Given the description of an element on the screen output the (x, y) to click on. 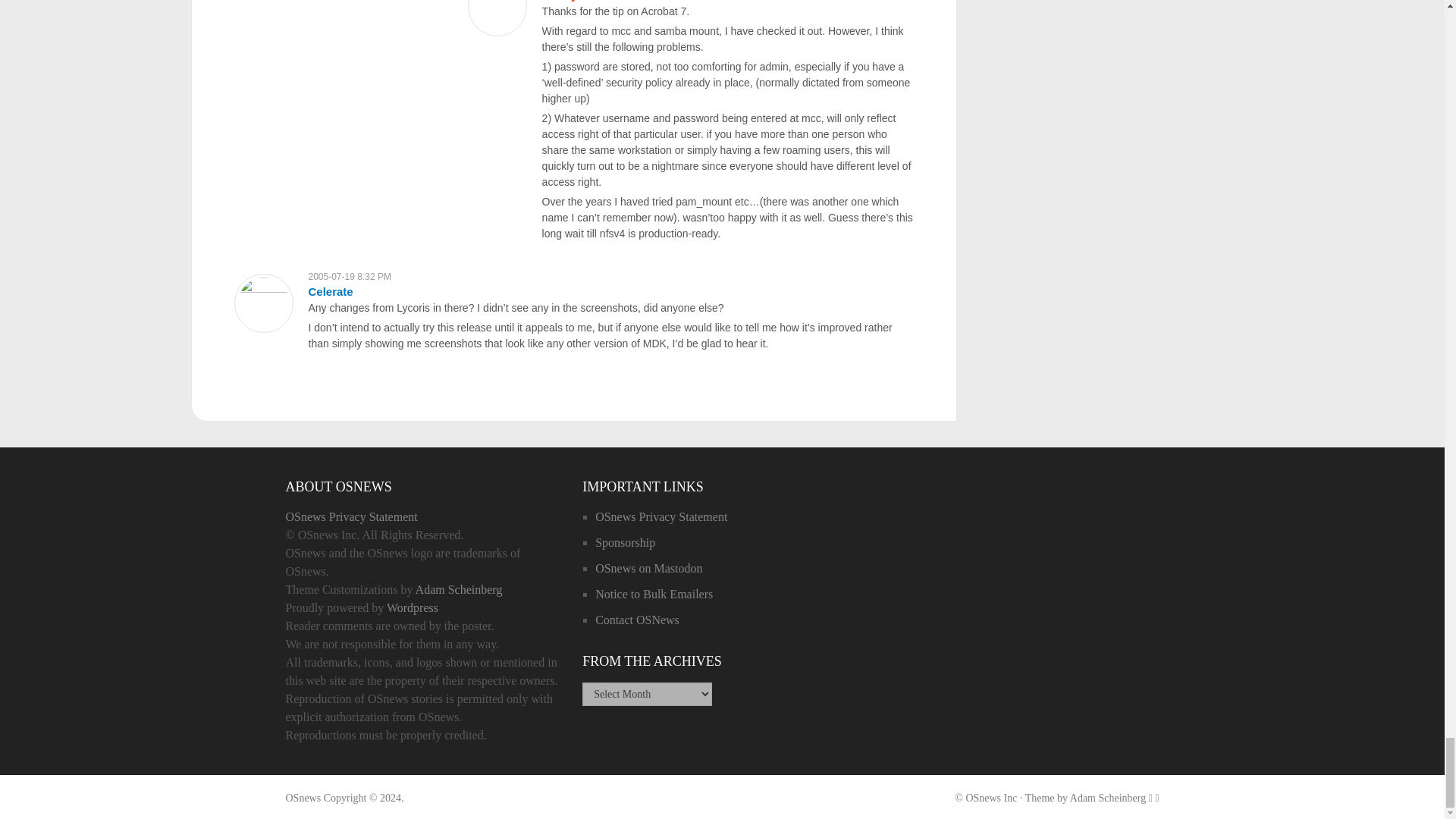
Exploring the Future of Computing (302, 797)
